Given the description of an element on the screen output the (x, y) to click on. 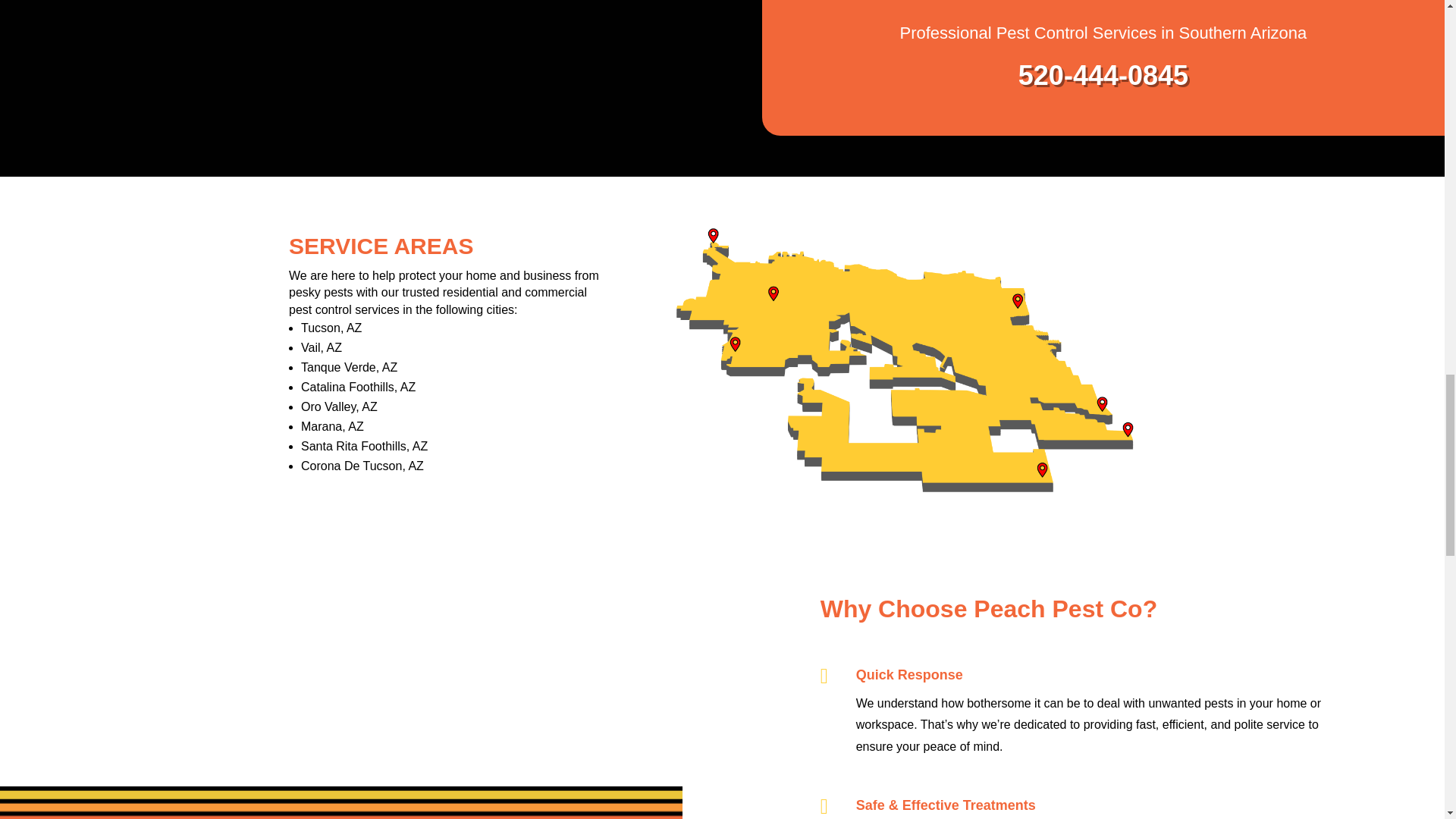
520-444-0845 (1102, 74)
